Given the description of an element on the screen output the (x, y) to click on. 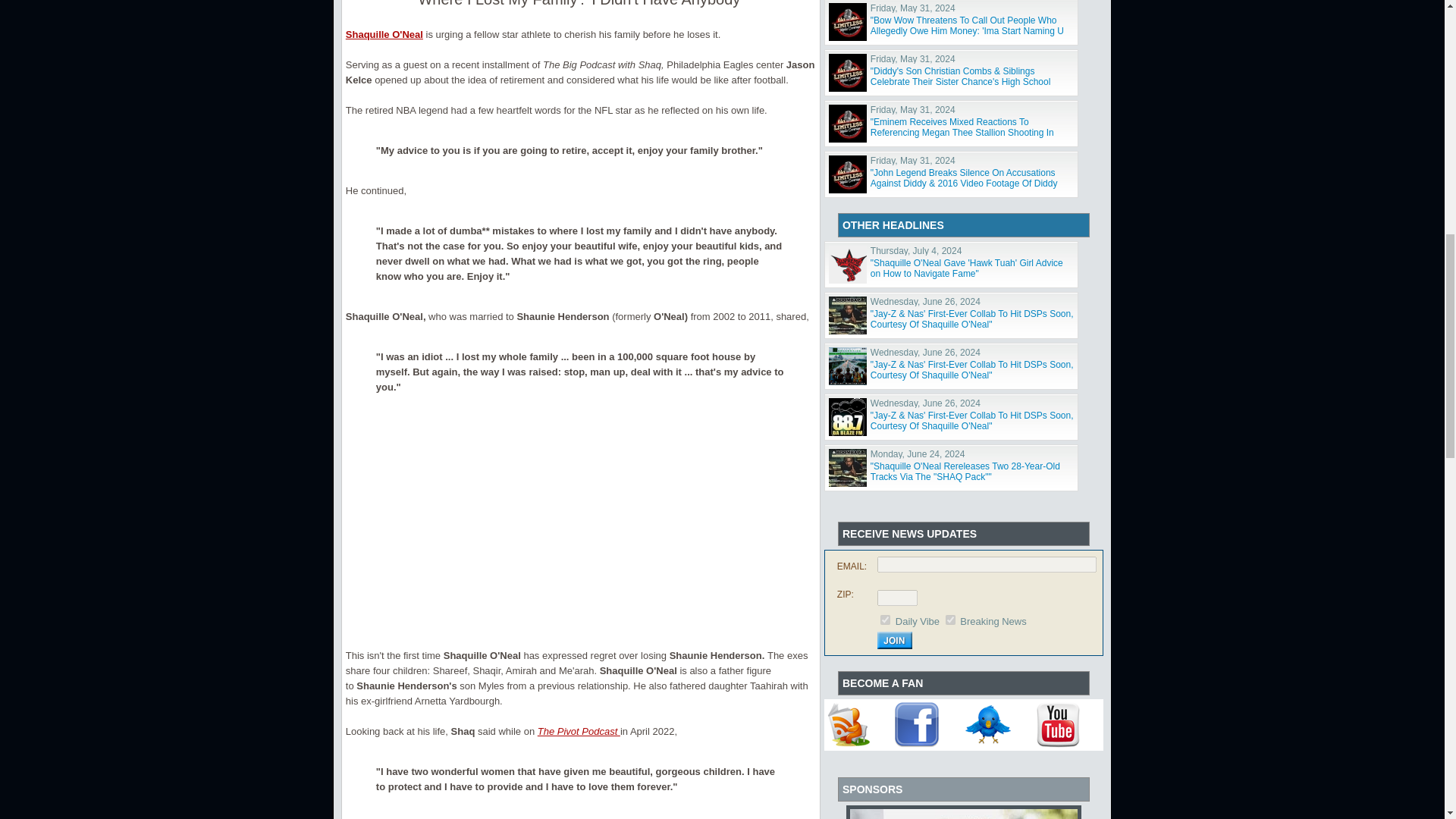
1 (884, 619)
2 (949, 619)
Shaquille O'Neal (384, 34)
The Pivot Podcast (578, 731)
